Given the description of an element on the screen output the (x, y) to click on. 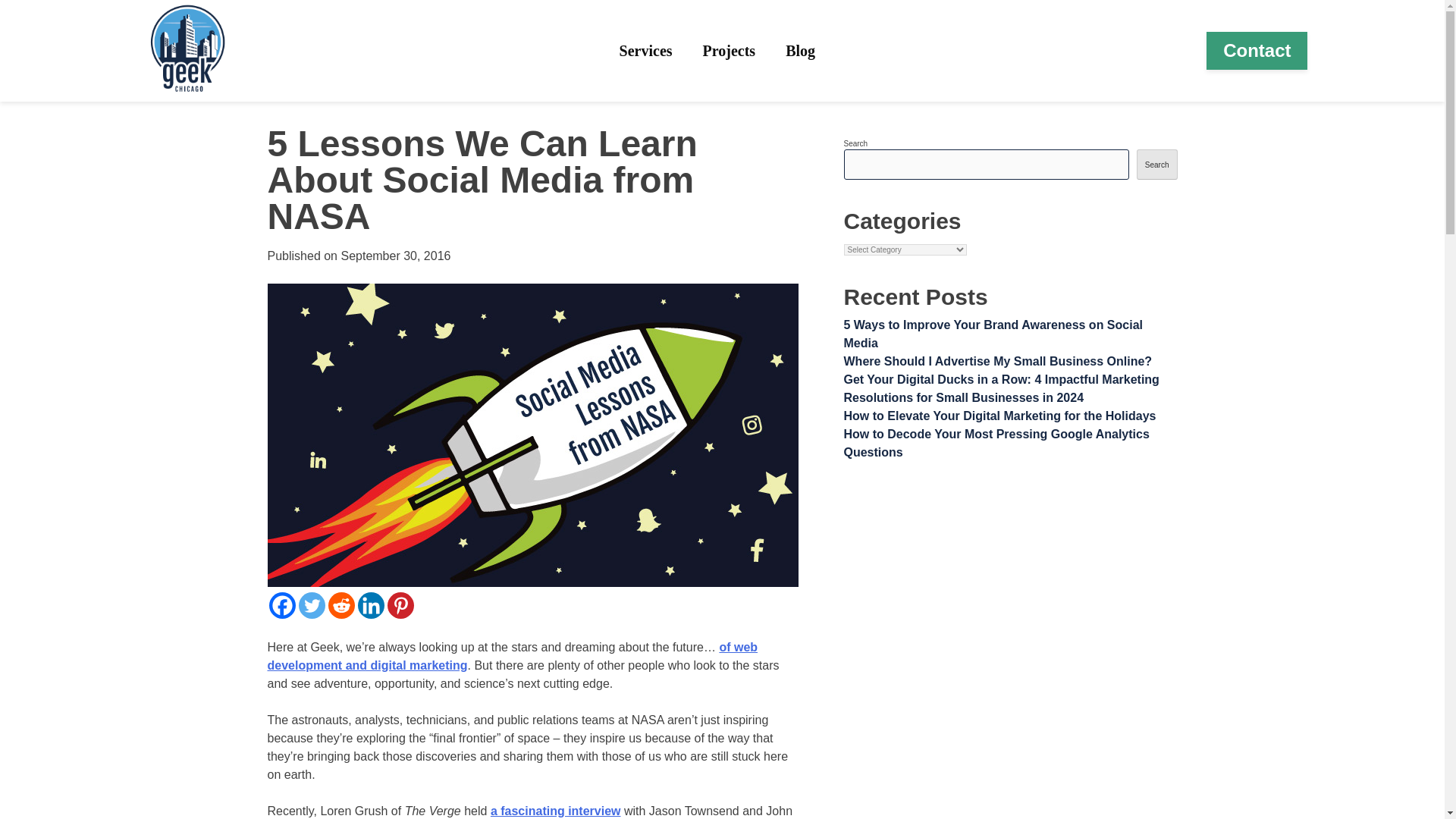
Services (646, 50)
5 Ways to Improve Your Brand Awareness on Social Media (992, 333)
Blog (800, 50)
Facebook (281, 605)
Linkedin (371, 605)
of web development and digital marketing (511, 655)
How to Decode Your Most Pressing Google Analytics Questions (995, 442)
a fascinating interview (555, 810)
Search (1157, 164)
Where Should I Advertise My Small Business Online? (997, 360)
How to Elevate Your Digital Marketing for the Holidays (999, 415)
Reddit (340, 605)
Projects (729, 50)
Pinterest (400, 605)
